Given the description of an element on the screen output the (x, y) to click on. 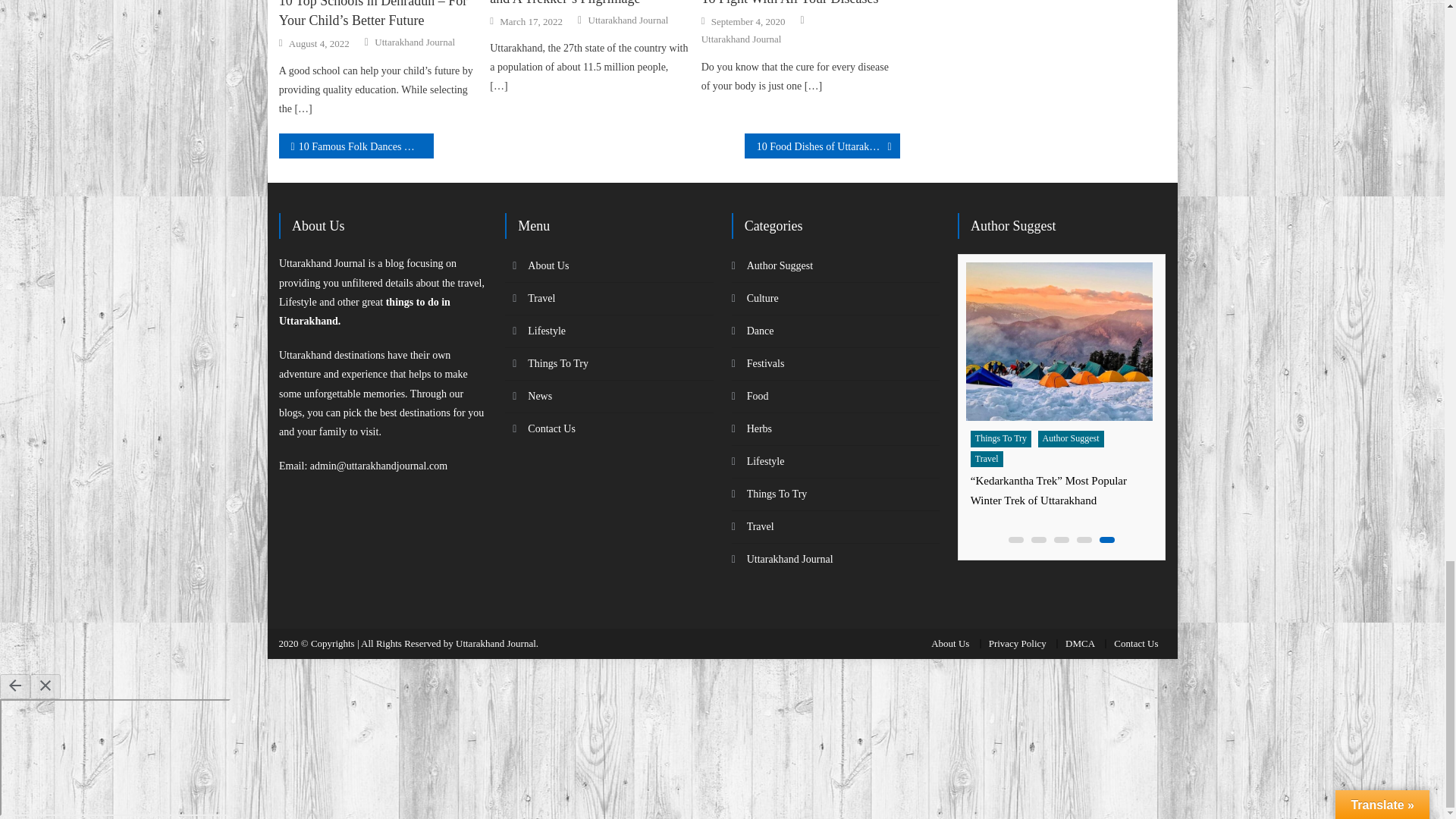
Uttarakhand Journal (414, 42)
August 4, 2022 (318, 43)
March 17, 2022 (530, 21)
